Given the description of an element on the screen output the (x, y) to click on. 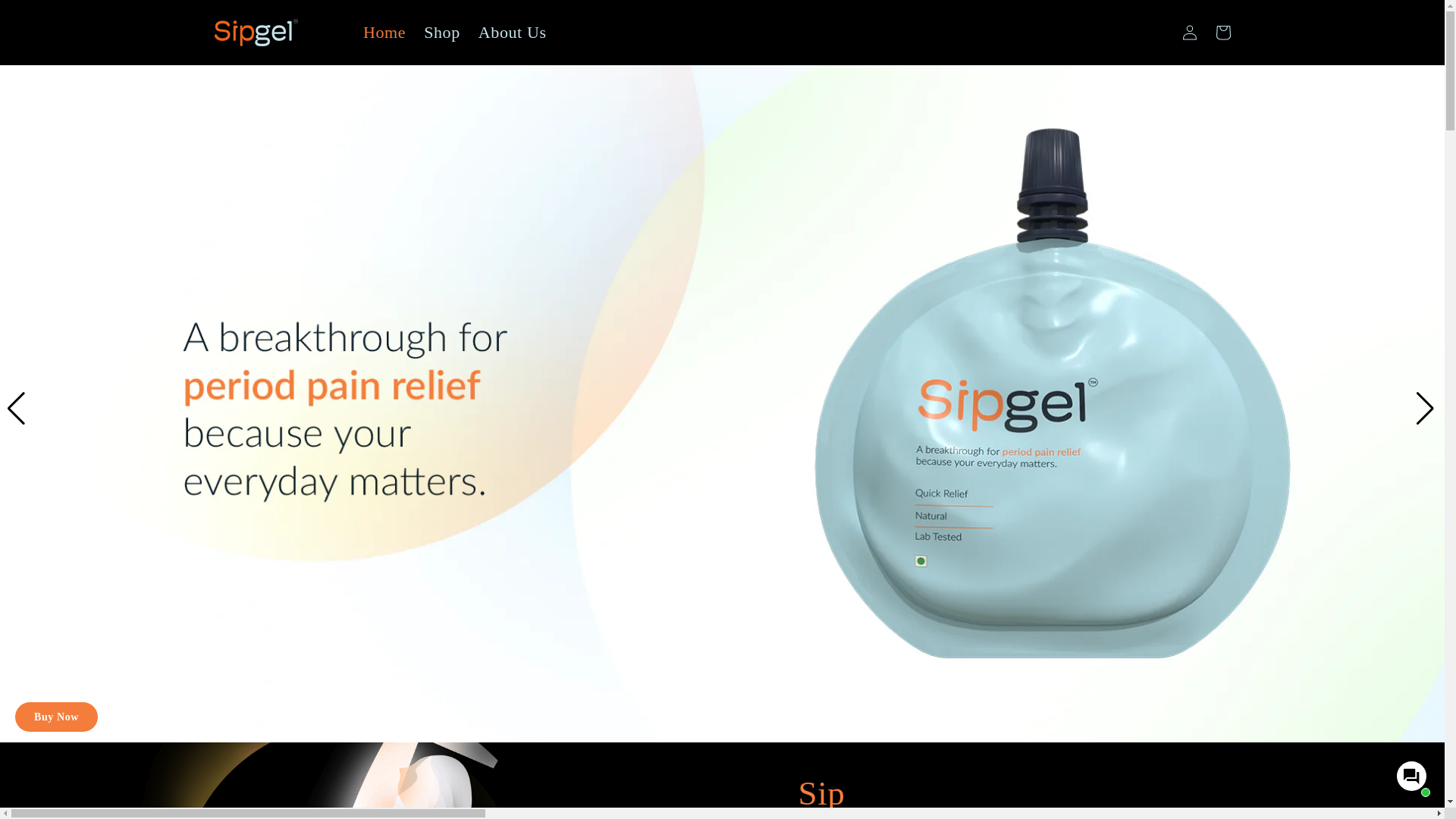
Home (383, 32)
Cart (1222, 31)
Log in (1188, 31)
Skip to content (45, 17)
Shop (441, 32)
About Us (512, 32)
